Given the description of an element on the screen output the (x, y) to click on. 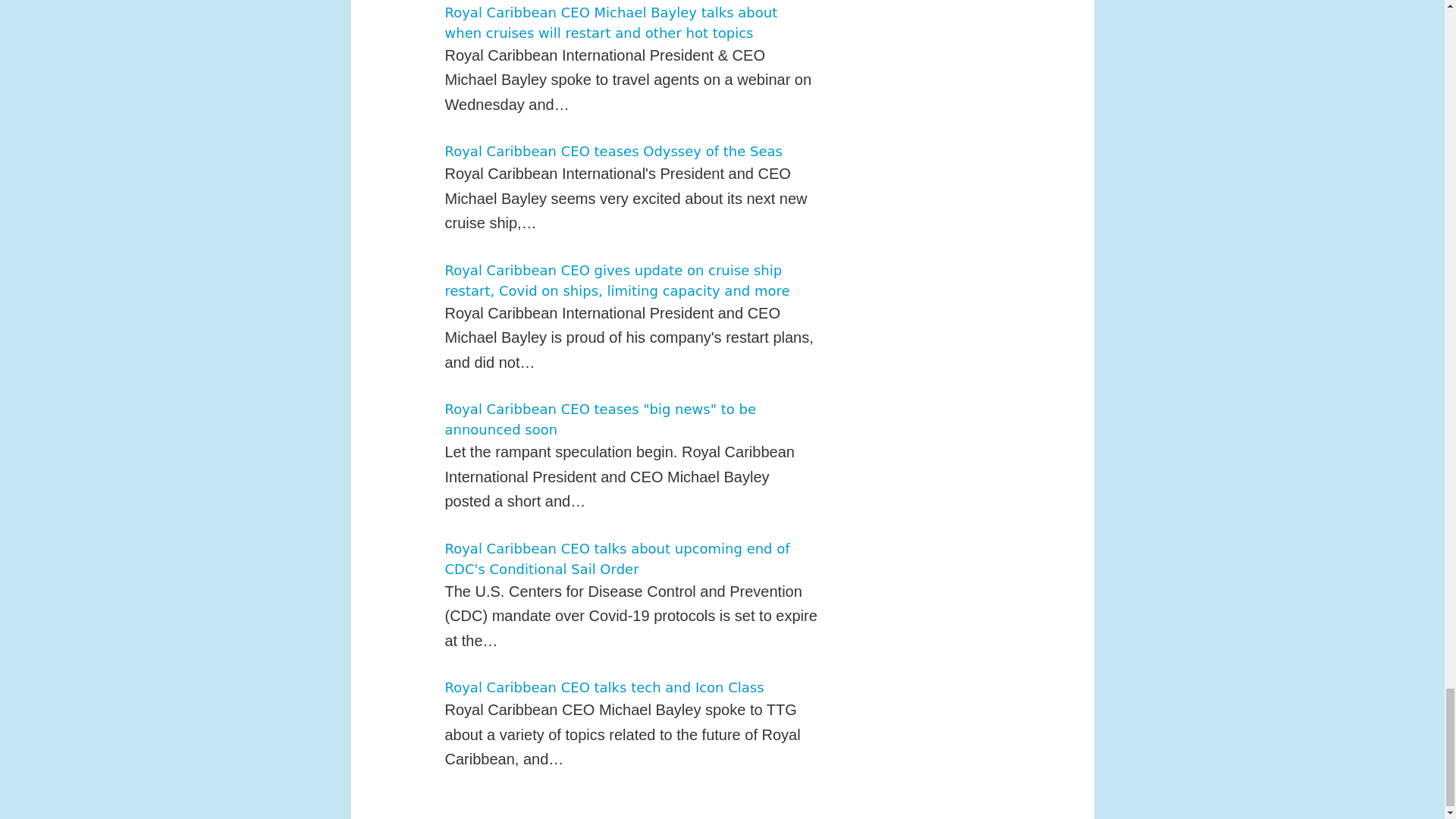
Royal Caribbean CEO teases Odyssey of the Seas (612, 150)
Royal Caribbean CEO talks tech and Icon Class (603, 687)
Royal Caribbean CEO teases "big news" to be announced soon (599, 419)
